Given the description of an element on the screen output the (x, y) to click on. 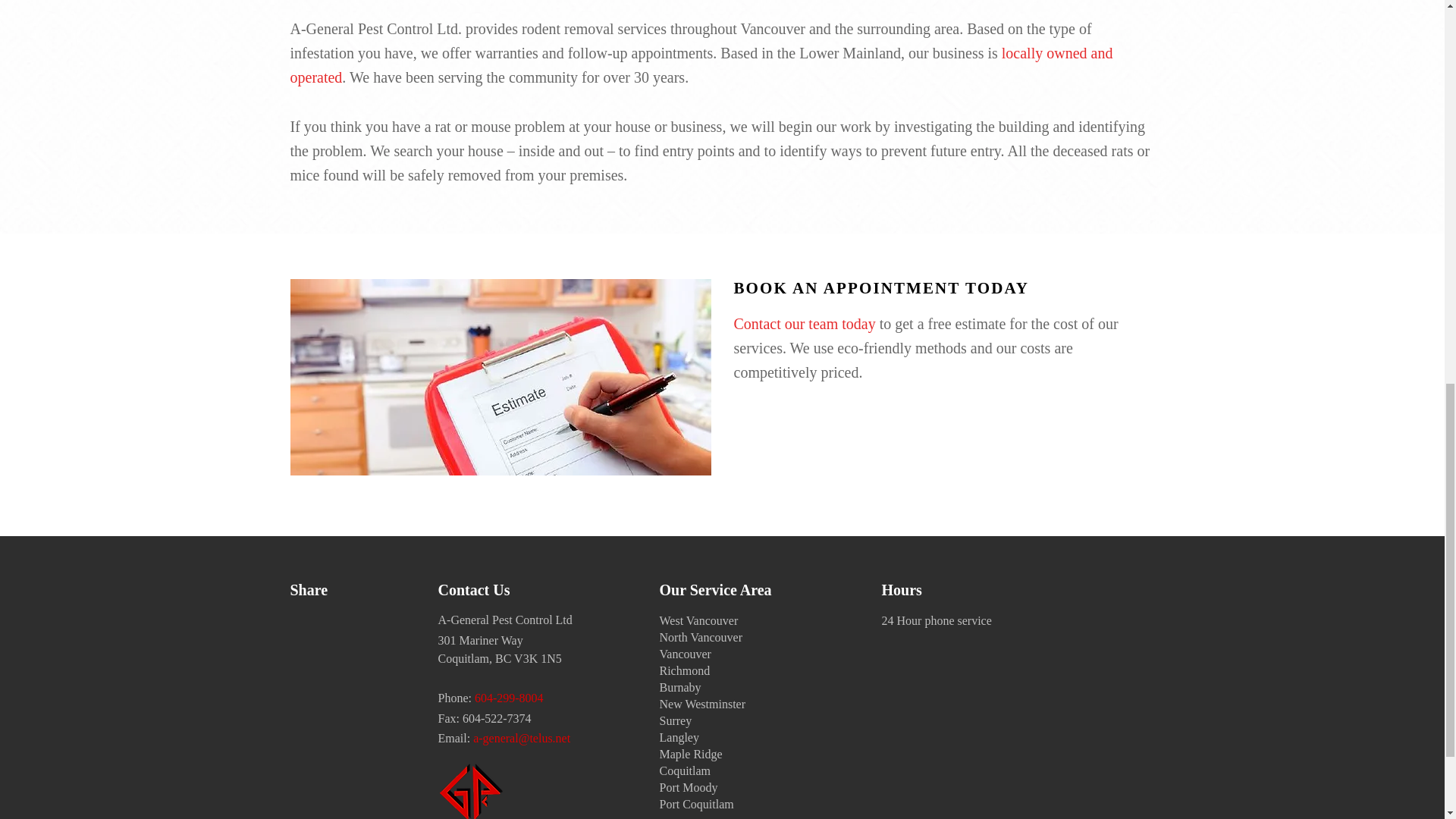
Contact our team today (804, 326)
604-299-8004 (508, 699)
locally owned and operated (700, 67)
